Given the description of an element on the screen output the (x, y) to click on. 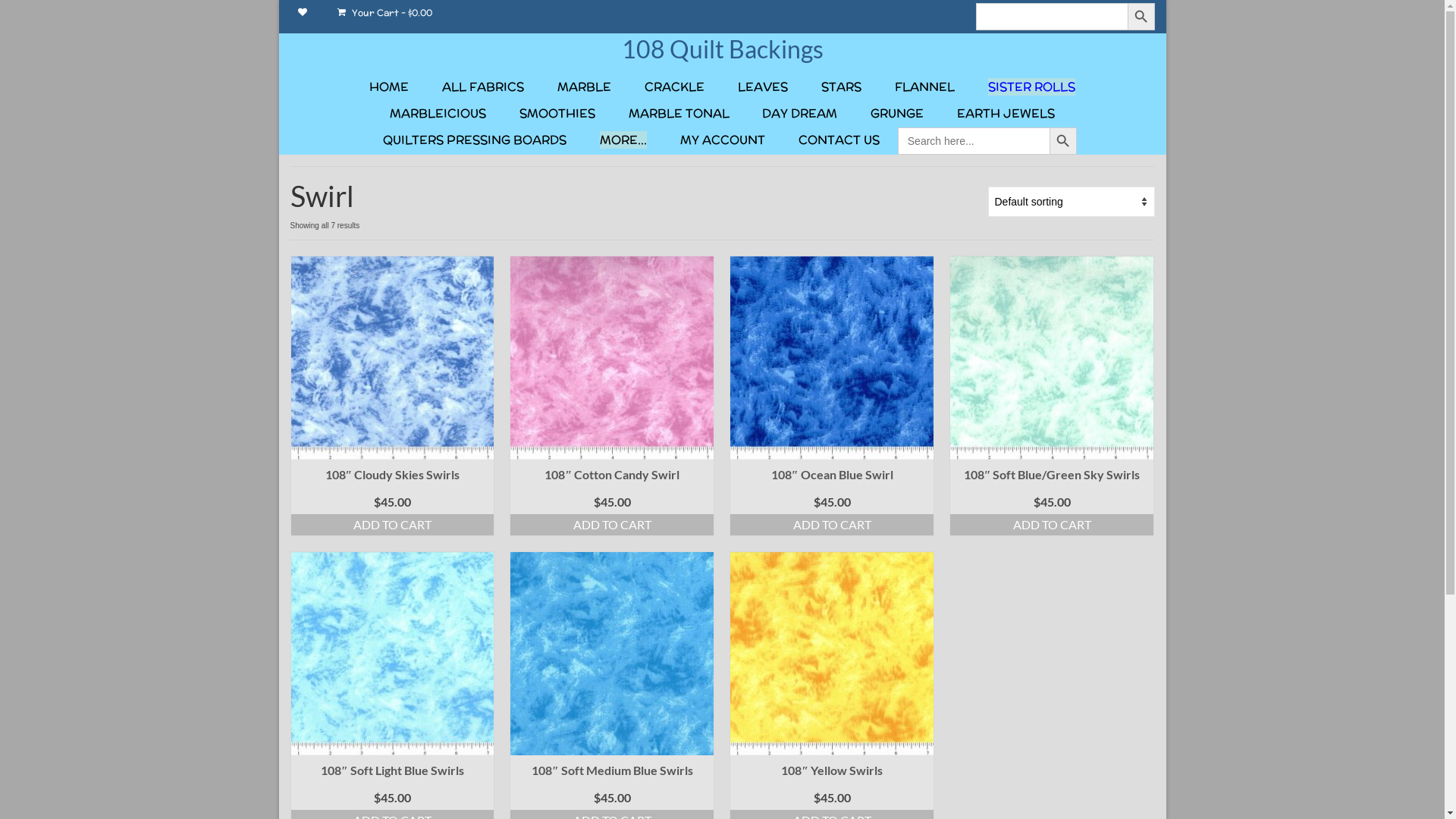
Search Button Element type: text (1140, 16)
MARBLE Element type: text (584, 86)
SMOOTHIES Element type: text (557, 113)
SISTER ROLLS Element type: text (1031, 86)
ADD TO CART Element type: text (611, 524)
CONTACT US Element type: text (838, 139)
QUILTERS PRESSING BOARDS Element type: text (474, 139)
ADD TO CART Element type: text (1051, 524)
ALL FABRICS Element type: text (482, 86)
MARBLEICIOUS Element type: text (437, 113)
EARTH JEWELS Element type: text (1005, 113)
Your Cart - $0.00 Element type: text (384, 12)
STARS Element type: text (841, 86)
ADD TO CART Element type: text (392, 524)
DAY DREAM Element type: text (799, 113)
MY ACCOUNT Element type: text (722, 139)
Search Button Element type: text (1062, 140)
HOME Element type: text (388, 86)
108 Quilt Backings Element type: text (722, 48)
ADD TO CART Element type: text (831, 524)
CRACKLE Element type: text (674, 86)
MARBLE TONAL Element type: text (678, 113)
LEAVES Element type: text (762, 86)
GRUNGE Element type: text (896, 113)
FLANNEL Element type: text (924, 86)
